Given the description of an element on the screen output the (x, y) to click on. 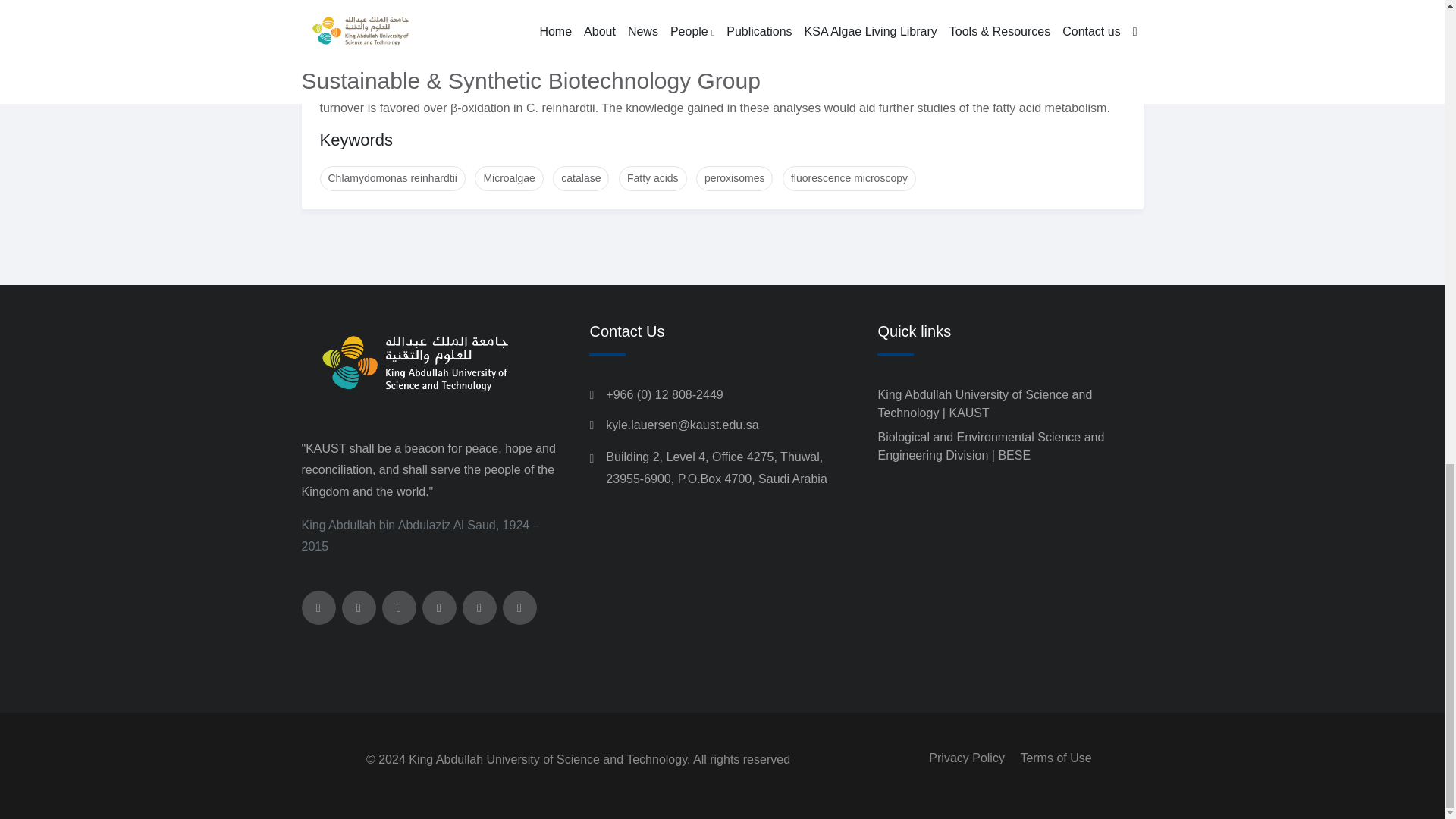
Terms of Use (1055, 757)
Privacy Policy (966, 757)
